Given the description of an element on the screen output the (x, y) to click on. 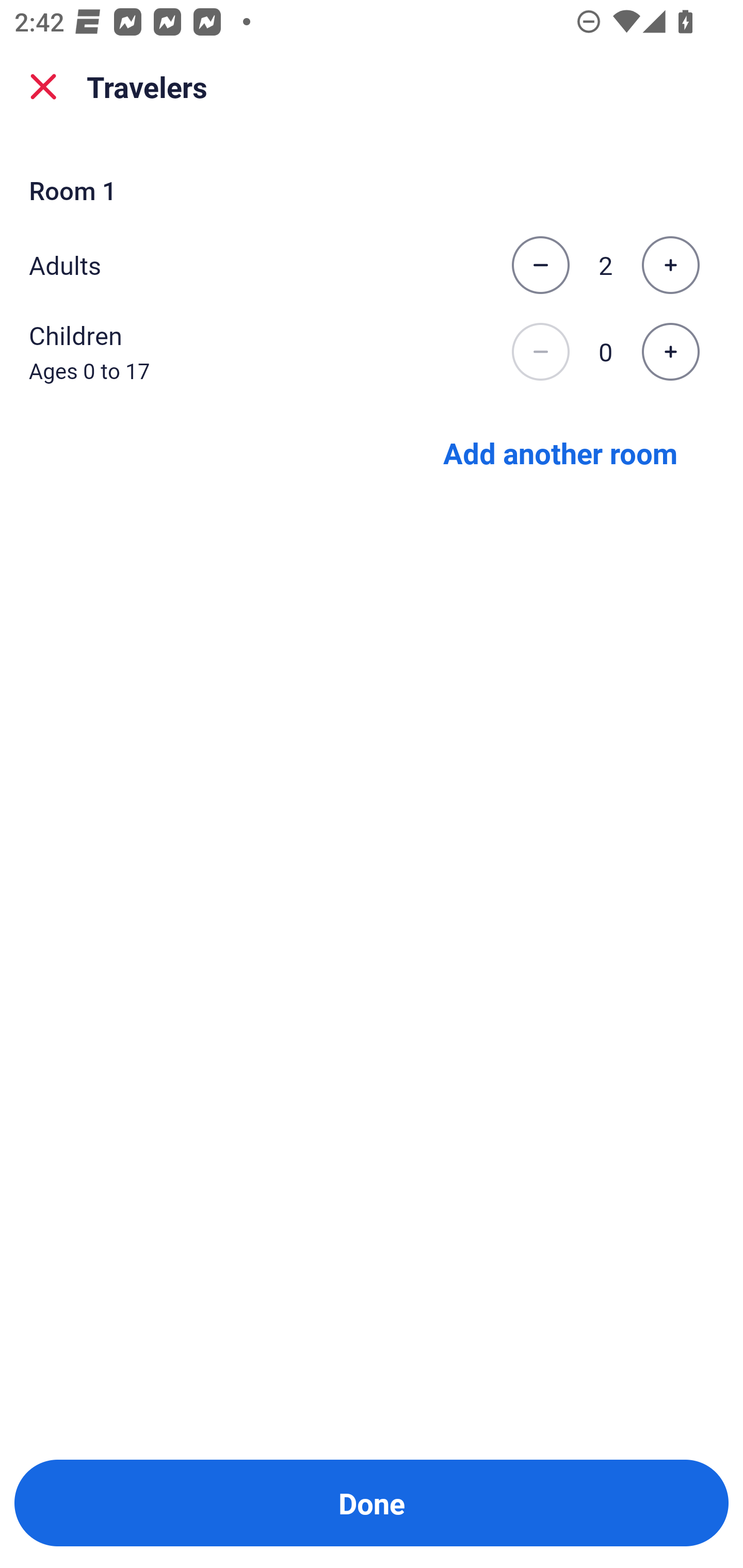
close (43, 86)
Decrease the number of adults (540, 264)
Increase the number of adults (670, 264)
Decrease the number of children (540, 351)
Increase the number of children (670, 351)
Add another room (560, 452)
Done (371, 1502)
